Given the description of an element on the screen output the (x, y) to click on. 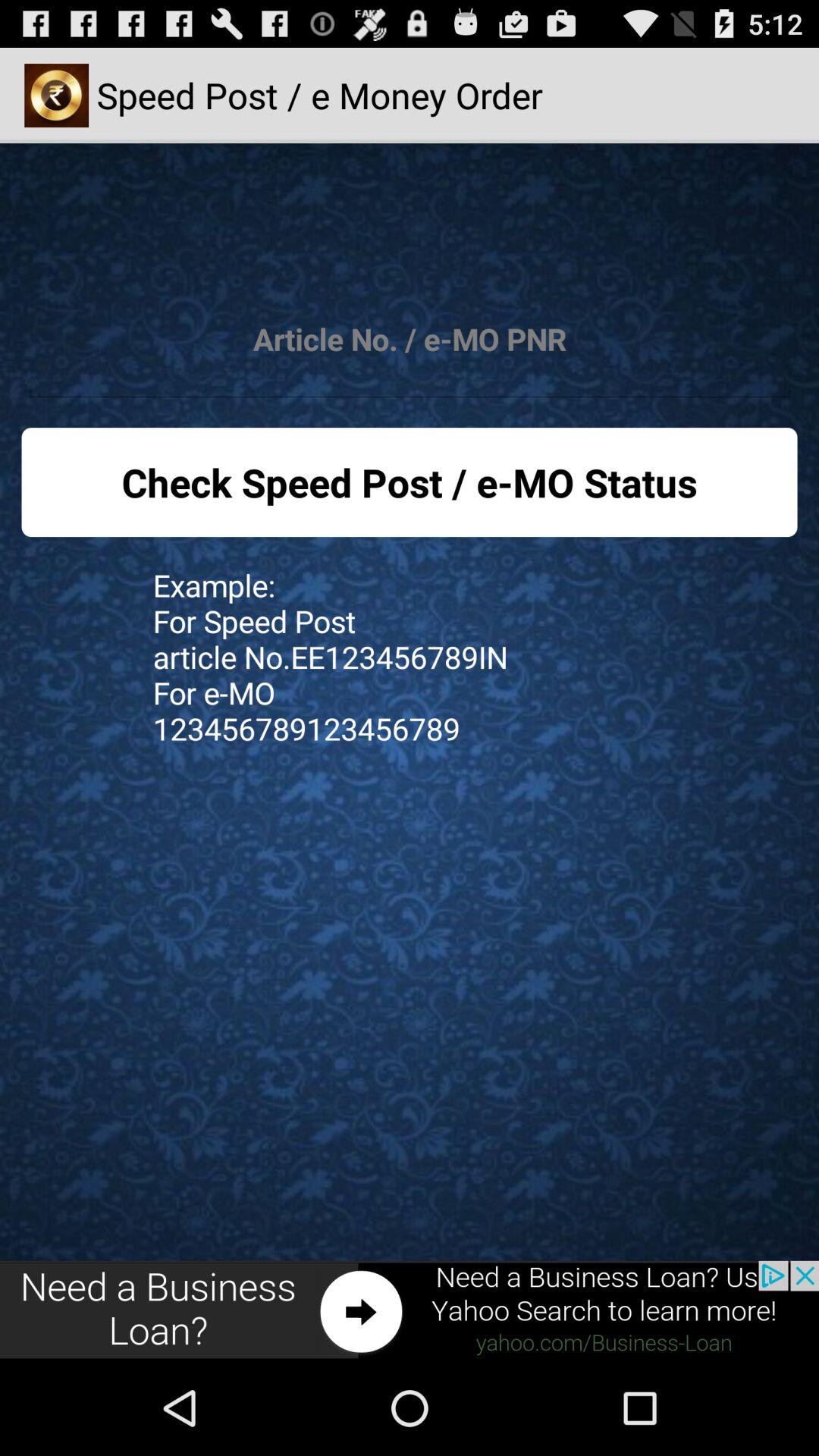
advertisement option (409, 1310)
